Given the description of an element on the screen output the (x, y) to click on. 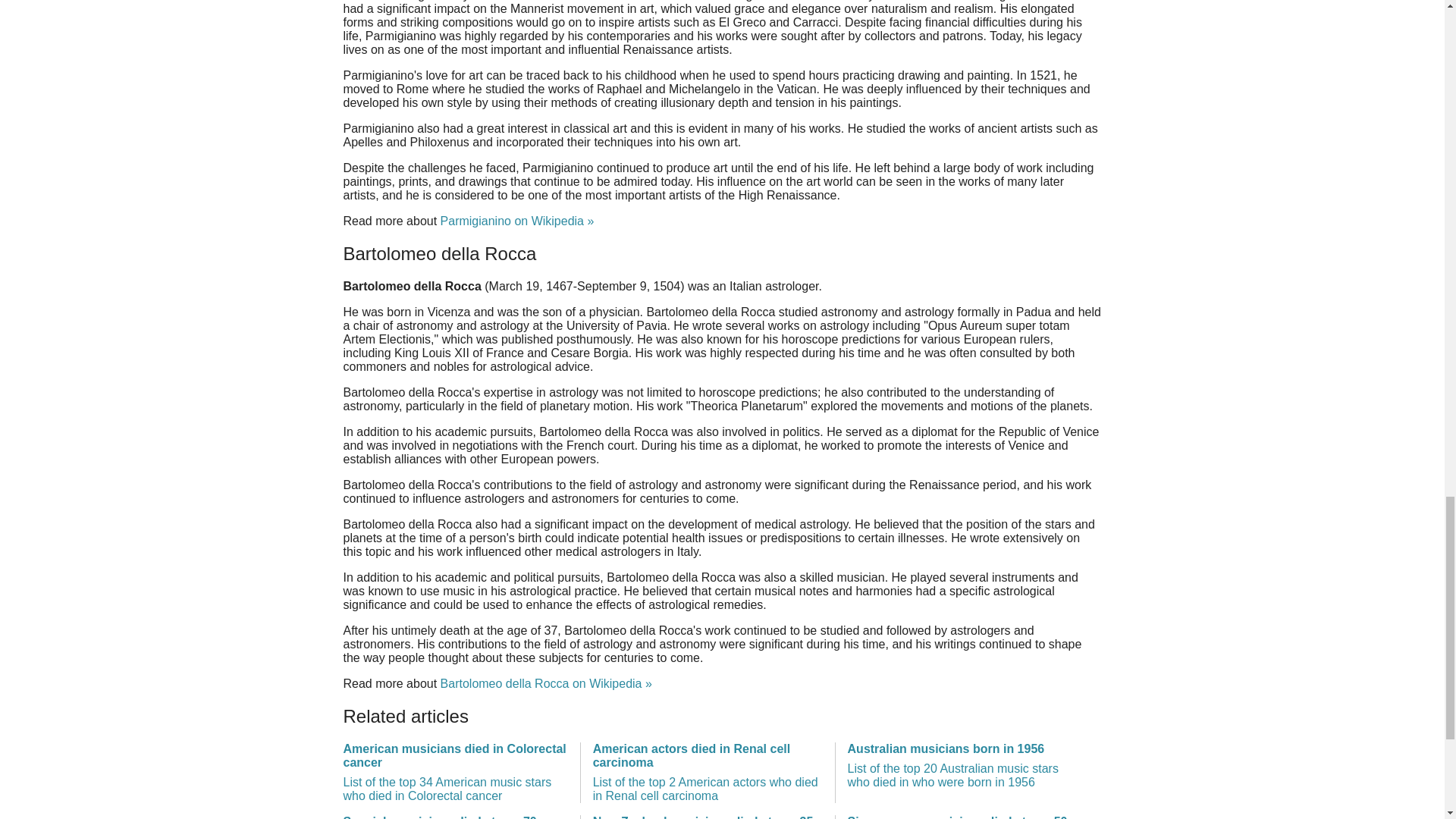
American actors died in Renal cell carcinoma (707, 772)
Singaporean musicians died at age 50 (962, 816)
Spanish musicians died at age 70 (454, 816)
Wikipedia article about Parmigianino (517, 220)
Wikipedia article about Bartolomeo della Rocca (546, 683)
New Zealand musicians died at age 35 (707, 816)
